Given the description of an element on the screen output the (x, y) to click on. 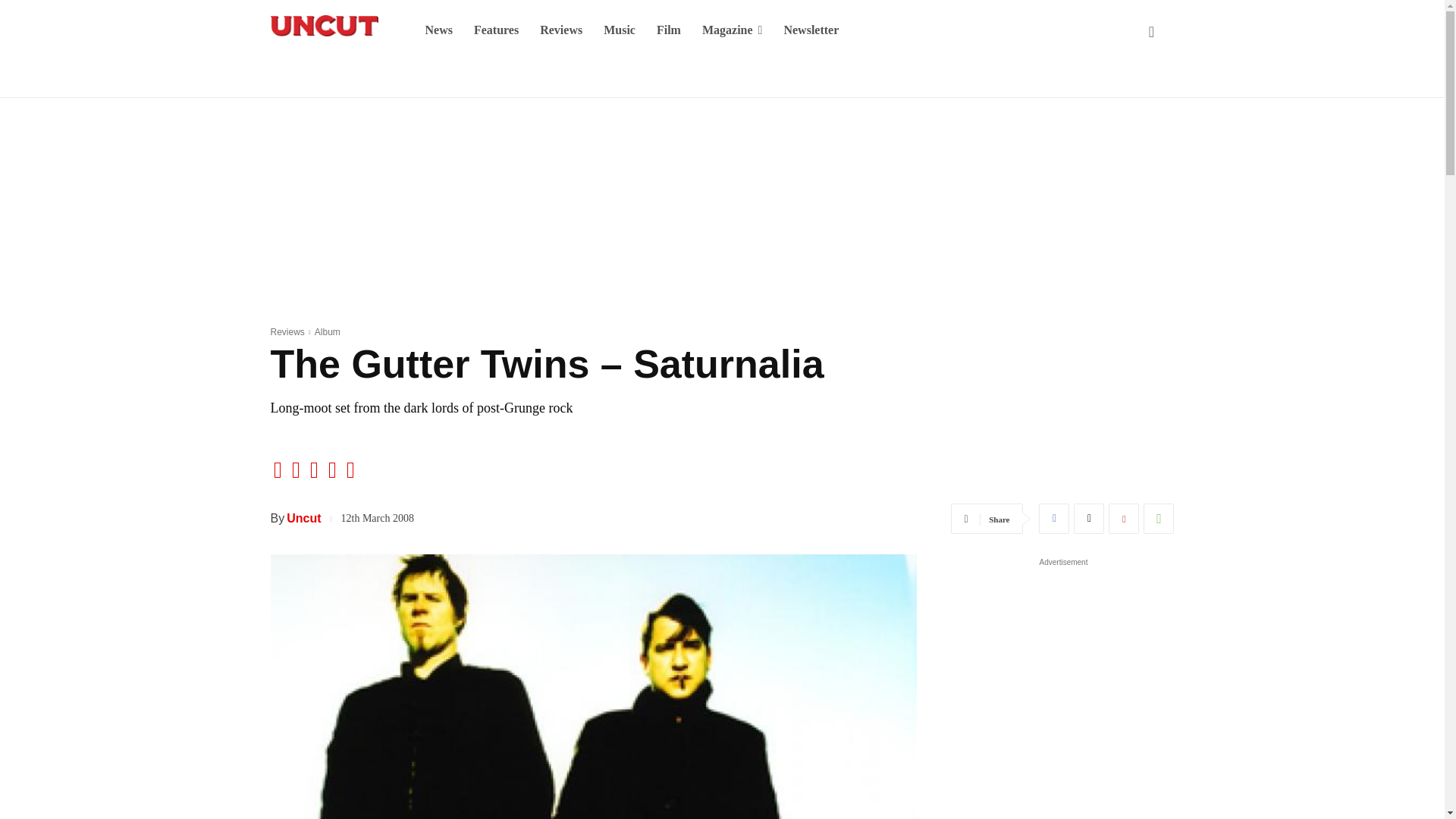
Film (668, 30)
View all posts in Reviews (286, 331)
Features (496, 30)
Music (619, 30)
View all posts in Album (327, 331)
Reviews (560, 30)
Facebook (1053, 518)
Twitter (1088, 518)
News (438, 30)
Pinterest (1123, 518)
WhatsApp (1157, 518)
Uncut Logo (323, 25)
